Given the description of an element on the screen output the (x, y) to click on. 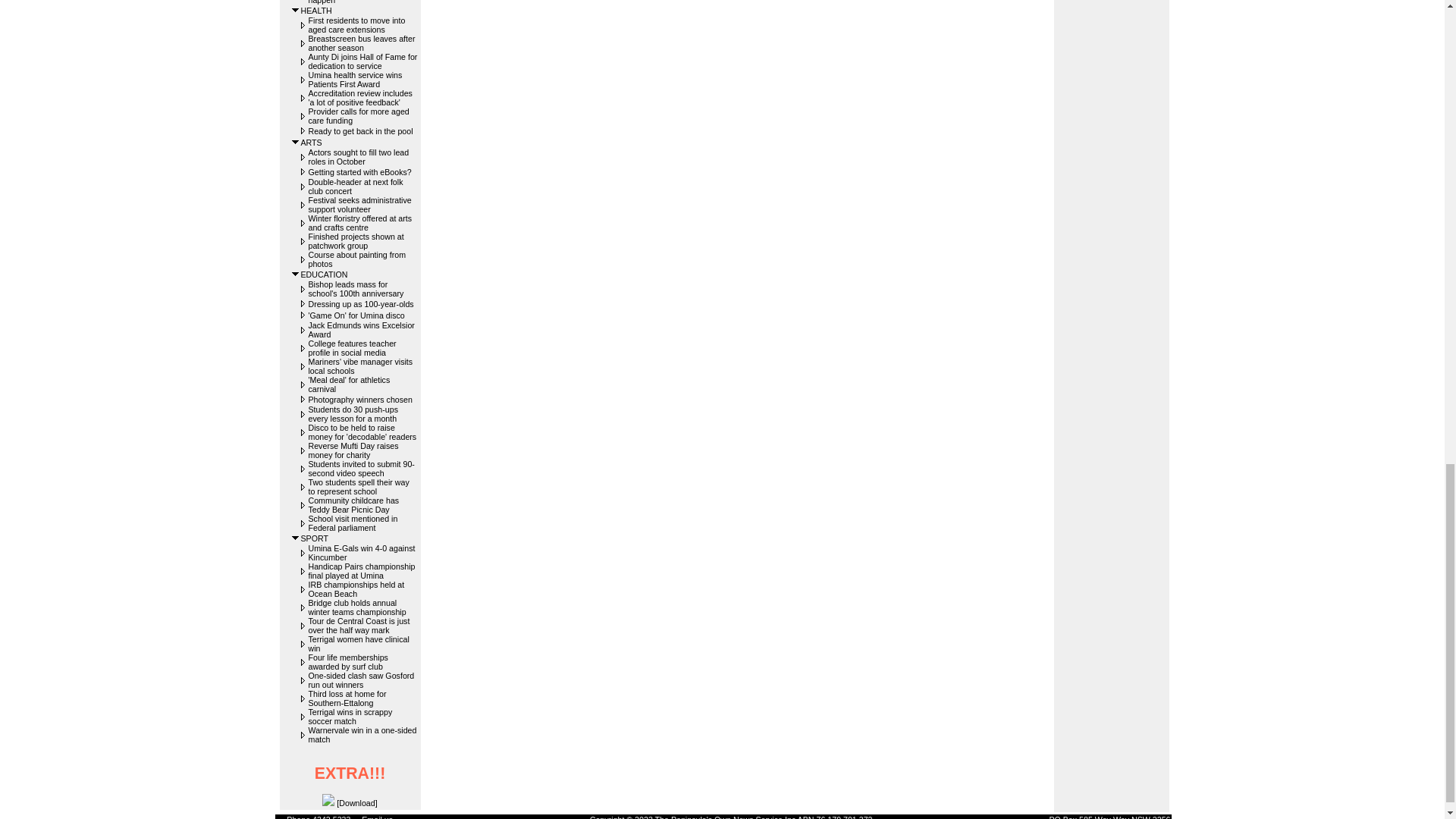
Collapse  HEALTH  (295, 9)
Collapse  EDUCATION  (295, 274)
Collapse  SPORT  (295, 537)
Collapse  ARTS  (295, 142)
